Given the description of an element on the screen output the (x, y) to click on. 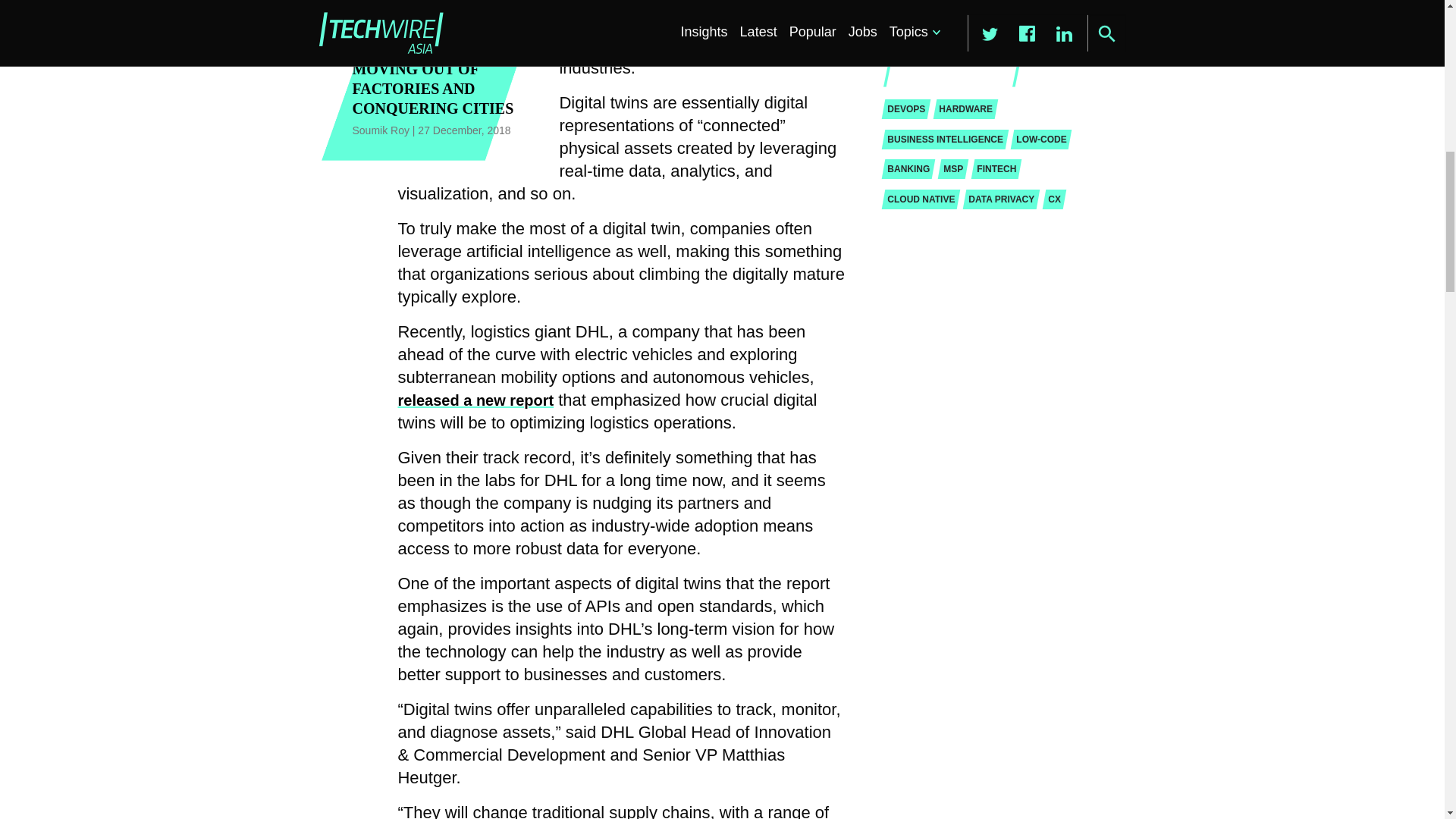
3rd party ad content (988, 22)
